Given the description of an element on the screen output the (x, y) to click on. 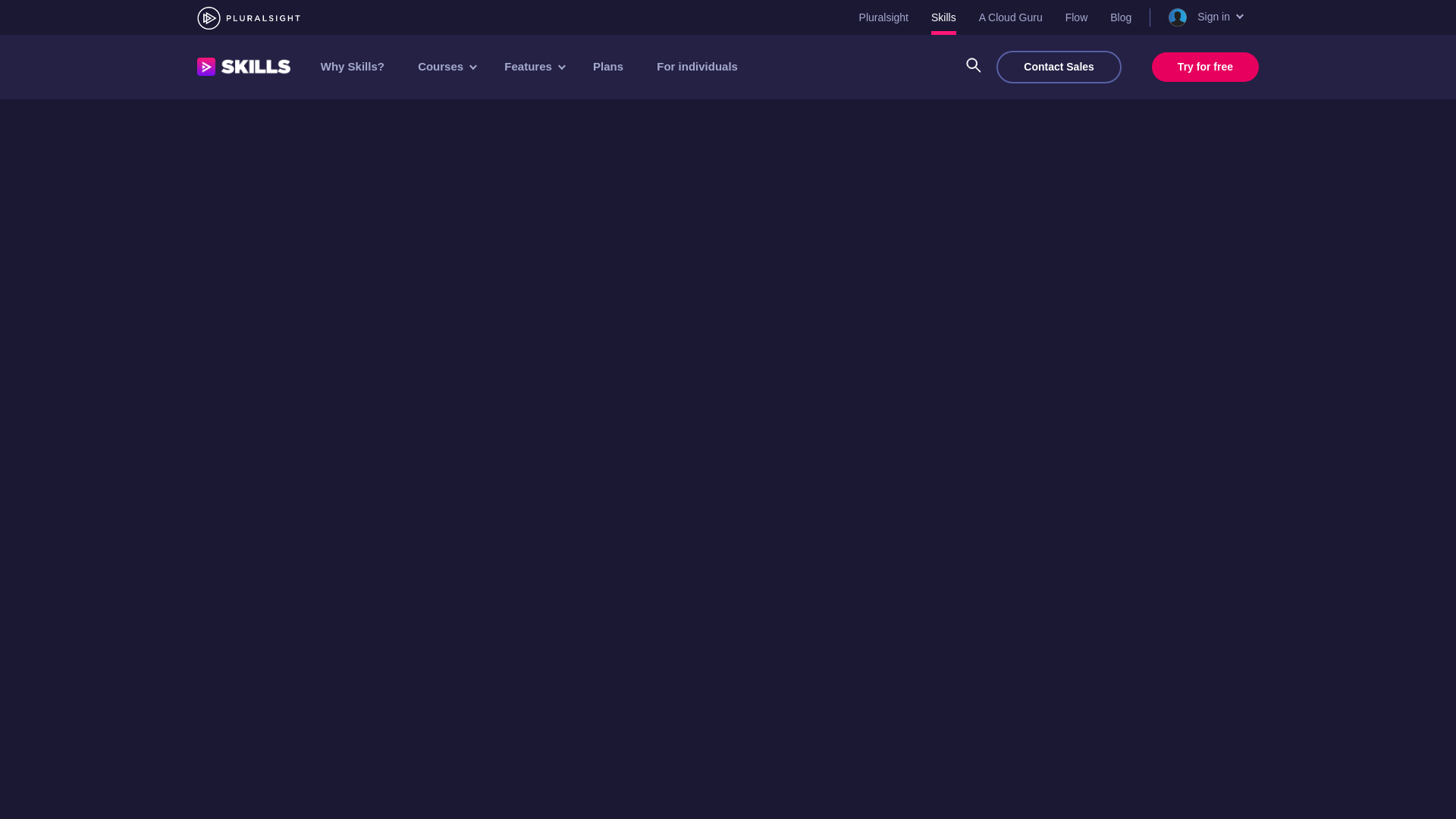
Courses (445, 66)
Blog (1120, 16)
Sign in (1204, 17)
Skills (943, 16)
A Cloud Guru (1010, 16)
Pluralsight (883, 16)
Flow (1076, 16)
Why Skills? (353, 65)
